Given the description of an element on the screen output the (x, y) to click on. 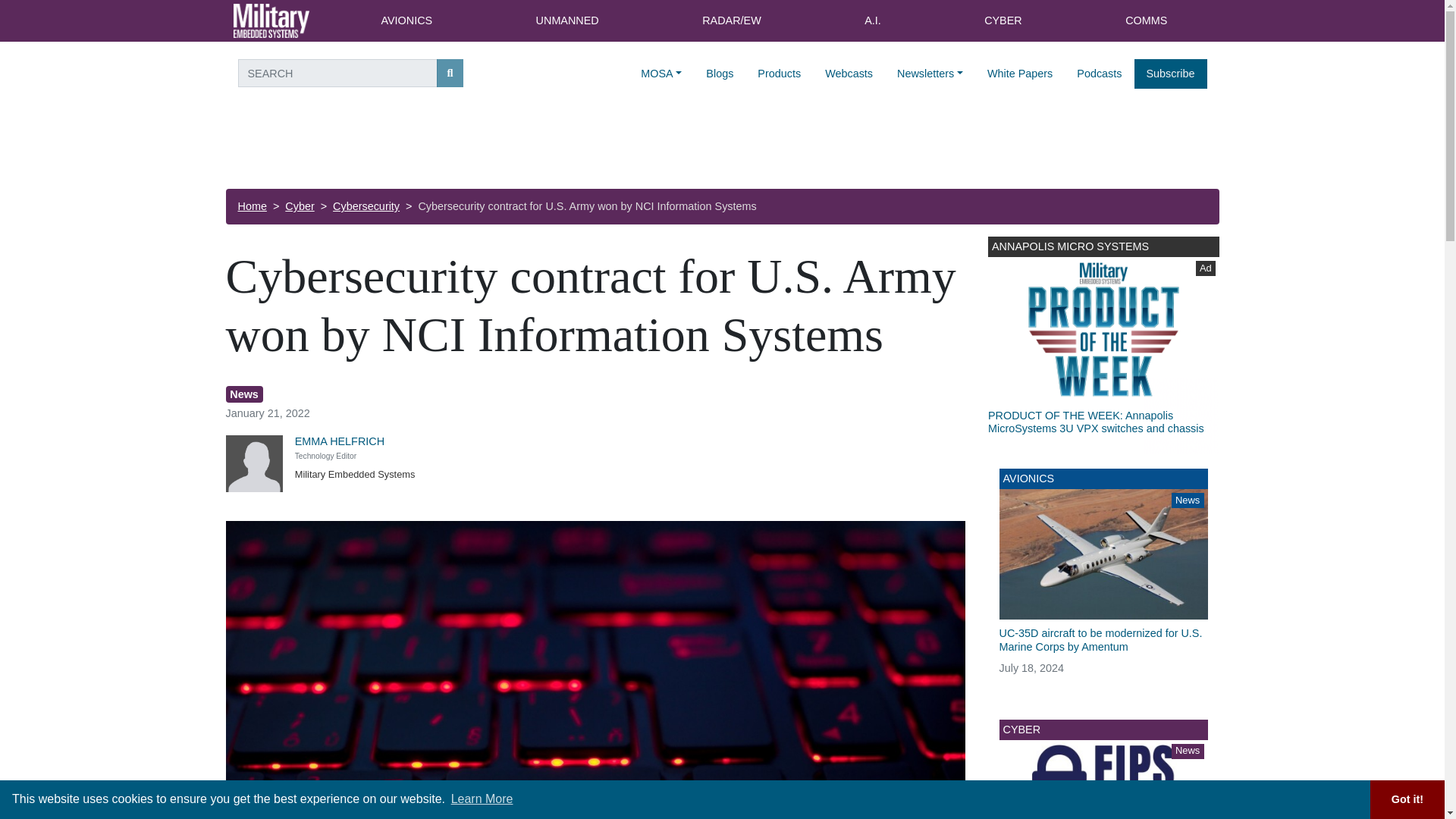
COMMS (1147, 20)
UNMANNED (566, 20)
3rd party ad content (721, 146)
3rd party ad content (1102, 344)
AVIONICS (406, 20)
CYBER (1003, 20)
Learn More (481, 798)
A.I. (872, 20)
